Given the description of an element on the screen output the (x, y) to click on. 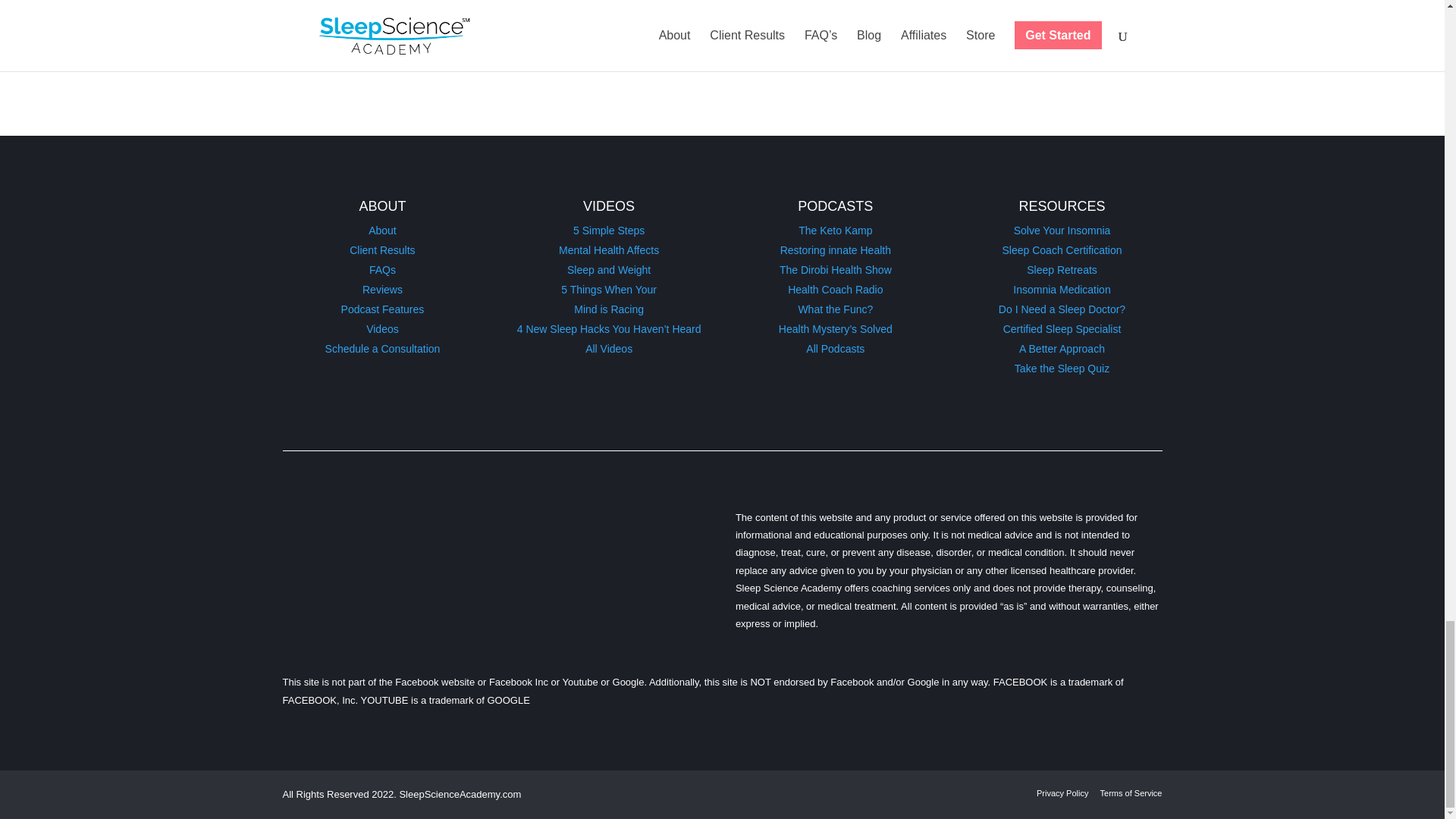
5 Things When Your (608, 289)
Schedule a Consultation (382, 348)
The Keto Kamp (834, 230)
The Dirobi Health Show (834, 269)
Reviews (382, 289)
ssa-white-small (427, 546)
Client Results (381, 250)
All Videos (608, 348)
Mental Health Affects (609, 250)
Restoring innate Health (835, 250)
5 Simple Steps (609, 230)
About (382, 230)
Health Coach Radio (834, 289)
Videos (382, 328)
What the Func? (834, 309)
